Given the description of an element on the screen output the (x, y) to click on. 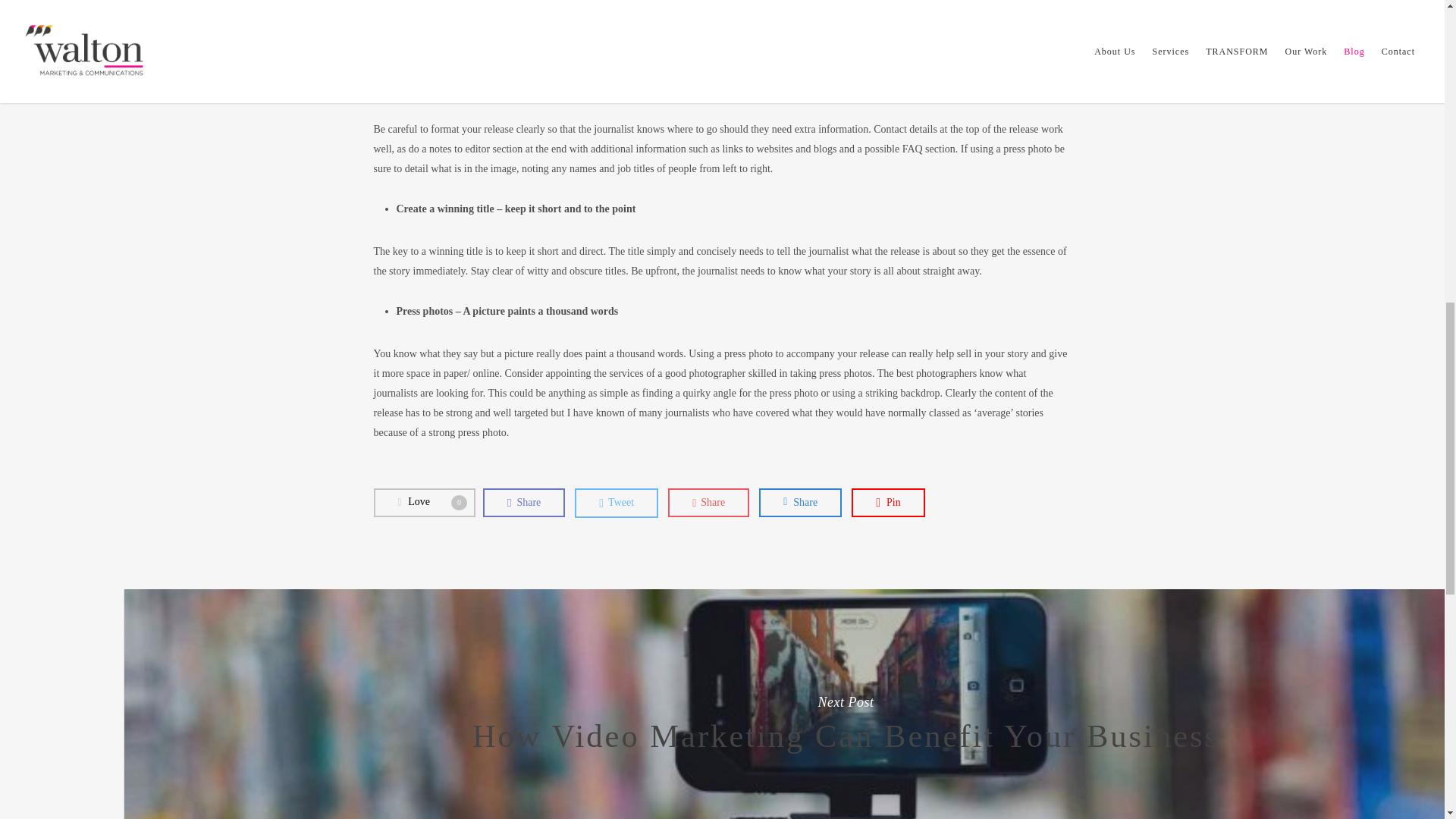
Pin (423, 502)
Share this (887, 502)
Love this (708, 502)
Tweet (423, 502)
How video marketing can benefit your business (616, 502)
Share this (523, 502)
Tweet this (799, 502)
Share this (616, 502)
Share (523, 502)
Share (799, 502)
Pin this (708, 502)
